Given the description of an element on the screen output the (x, y) to click on. 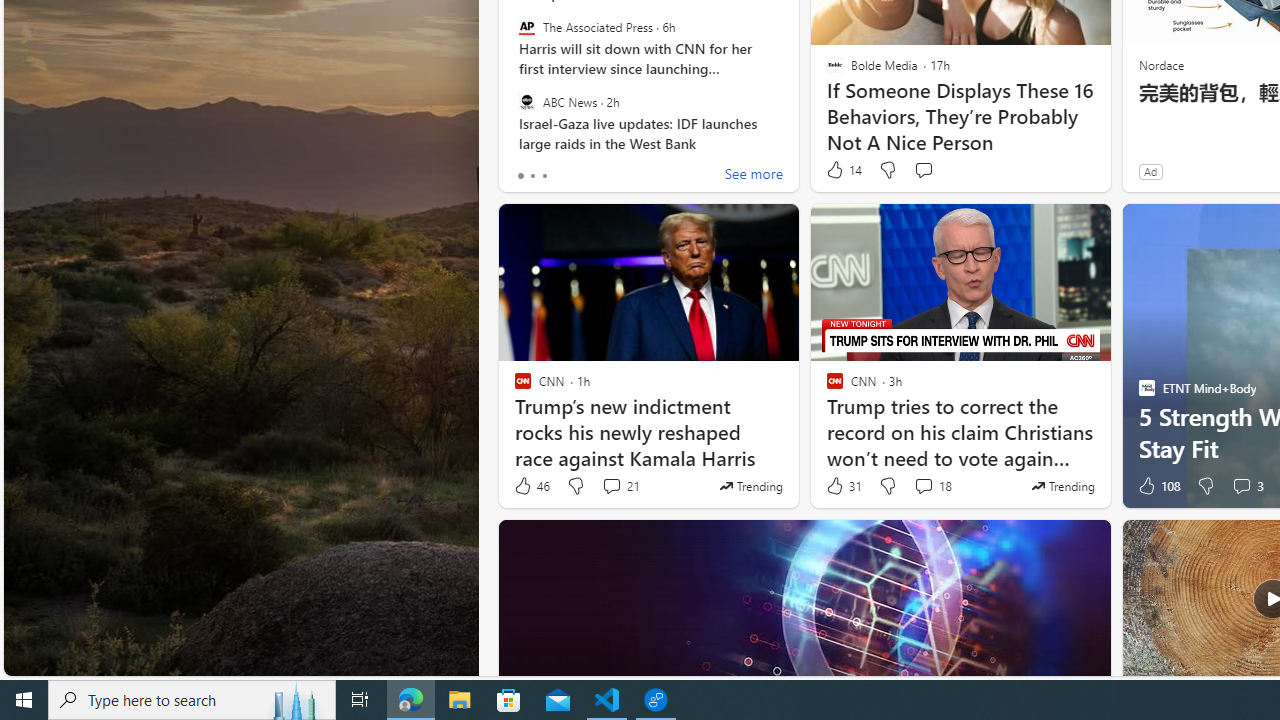
View comments 3 Comment (1241, 485)
This story is trending (1062, 485)
View comments 21 Comment (611, 485)
tab-0 (520, 175)
14 Like (843, 170)
The Associated Press (526, 27)
